Given the description of an element on the screen output the (x, y) to click on. 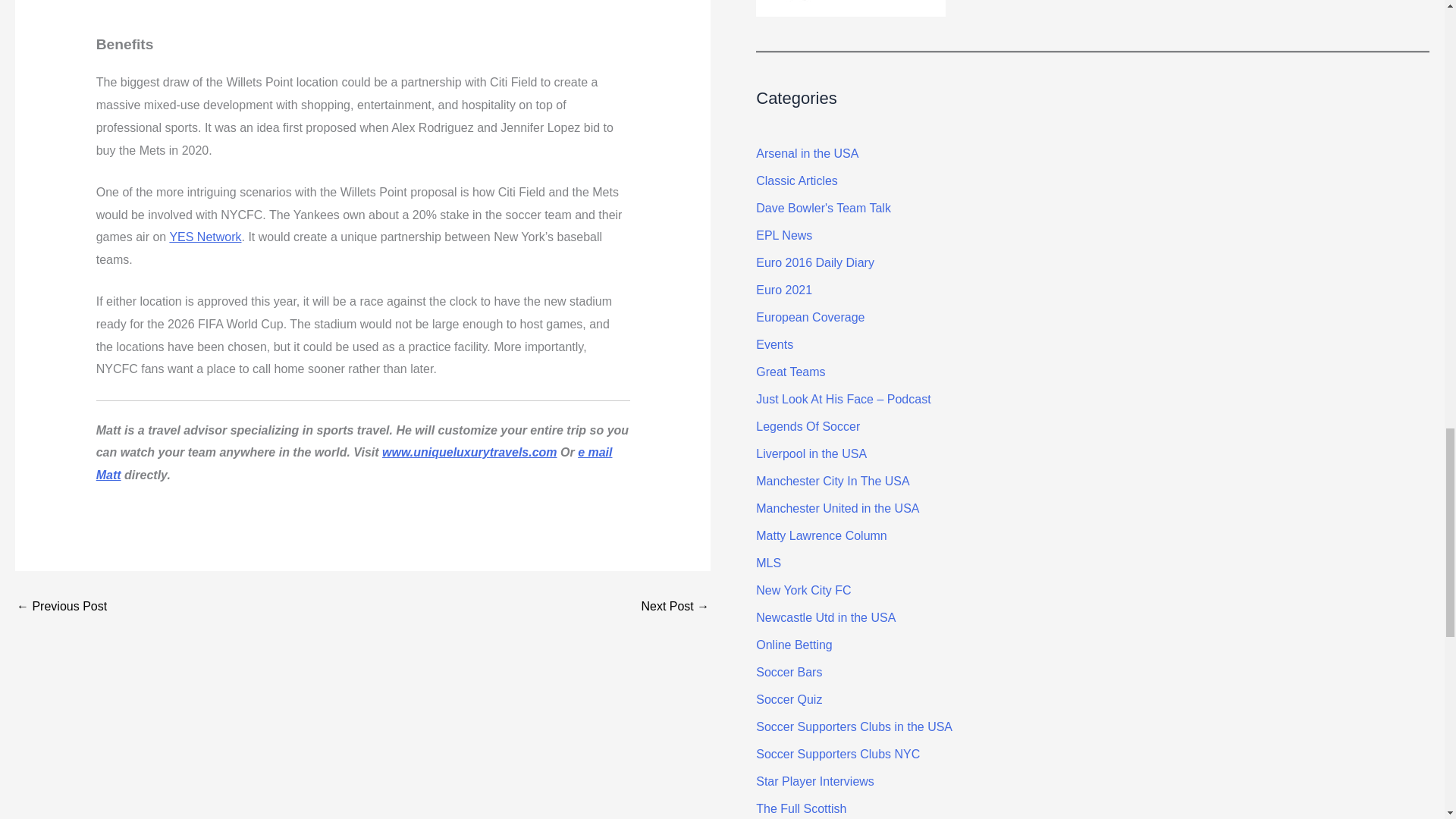
www.uniqueluxurytravels.com (469, 451)
Great Teams (790, 371)
Events (774, 344)
EPL News (783, 235)
Can USMNT Succeed at 2022 World Cup? (674, 606)
Classic Articles (796, 180)
Euro 2021 (783, 289)
e mail Matt (354, 463)
European Coverage (809, 317)
Arsenal in the USA (807, 153)
